Given the description of an element on the screen output the (x, y) to click on. 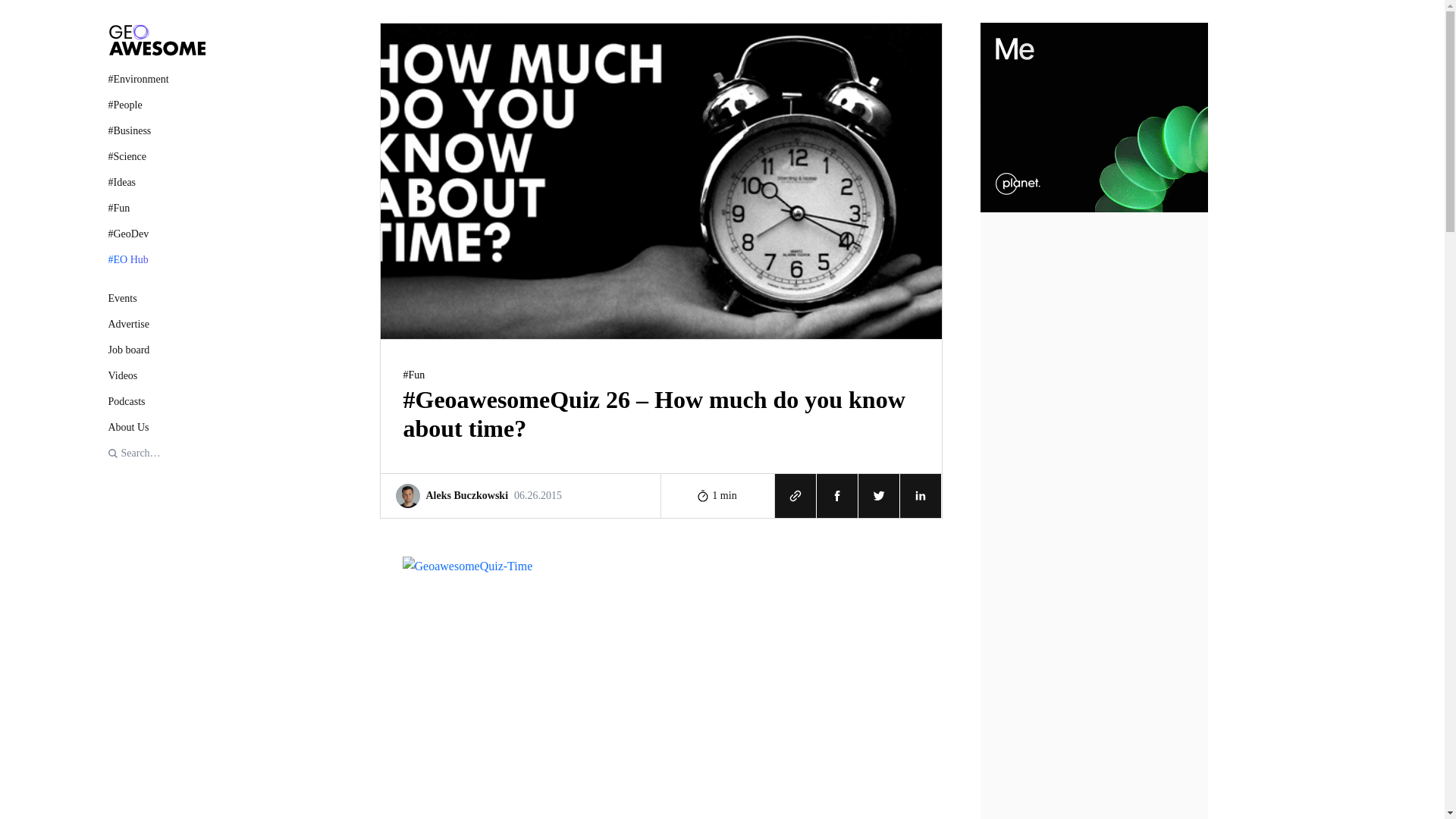
Advertise (156, 324)
Events (156, 298)
About Us (156, 426)
Videos (156, 375)
Job board (520, 494)
1 min (156, 349)
Podcasts (717, 494)
